Given the description of an element on the screen output the (x, y) to click on. 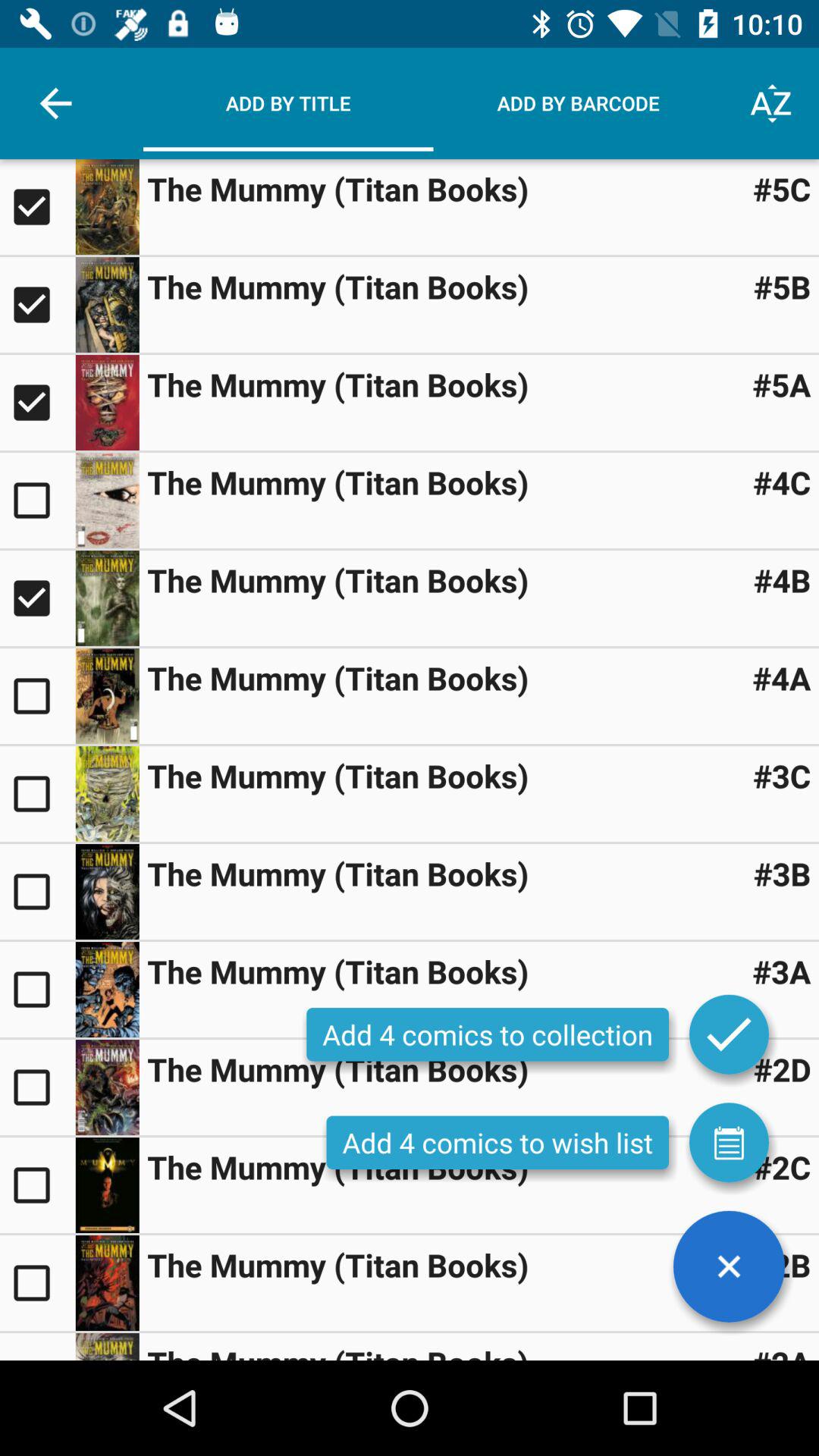
select box unticked (37, 1087)
